Given the description of an element on the screen output the (x, y) to click on. 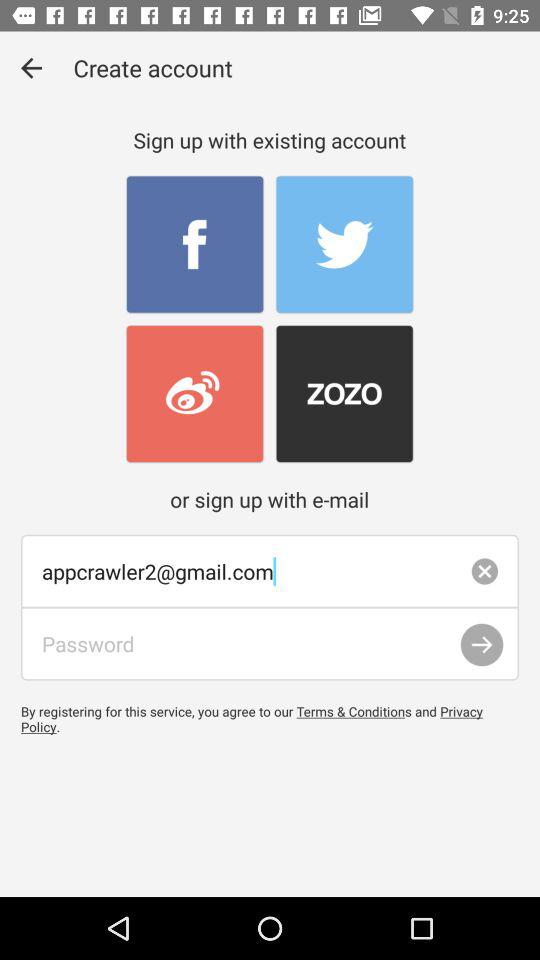
enter password (270, 643)
